Given the description of an element on the screen output the (x, y) to click on. 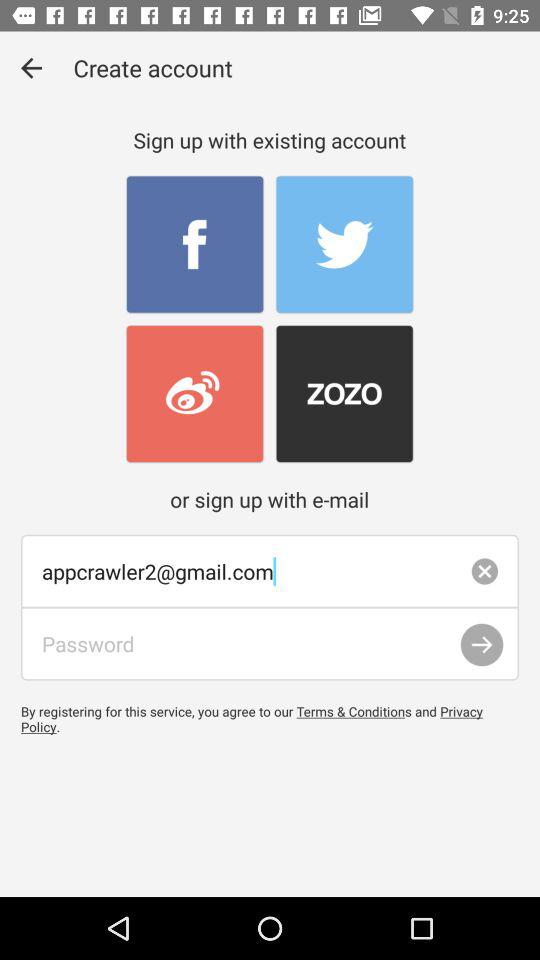
enter password (270, 643)
